Given the description of an element on the screen output the (x, y) to click on. 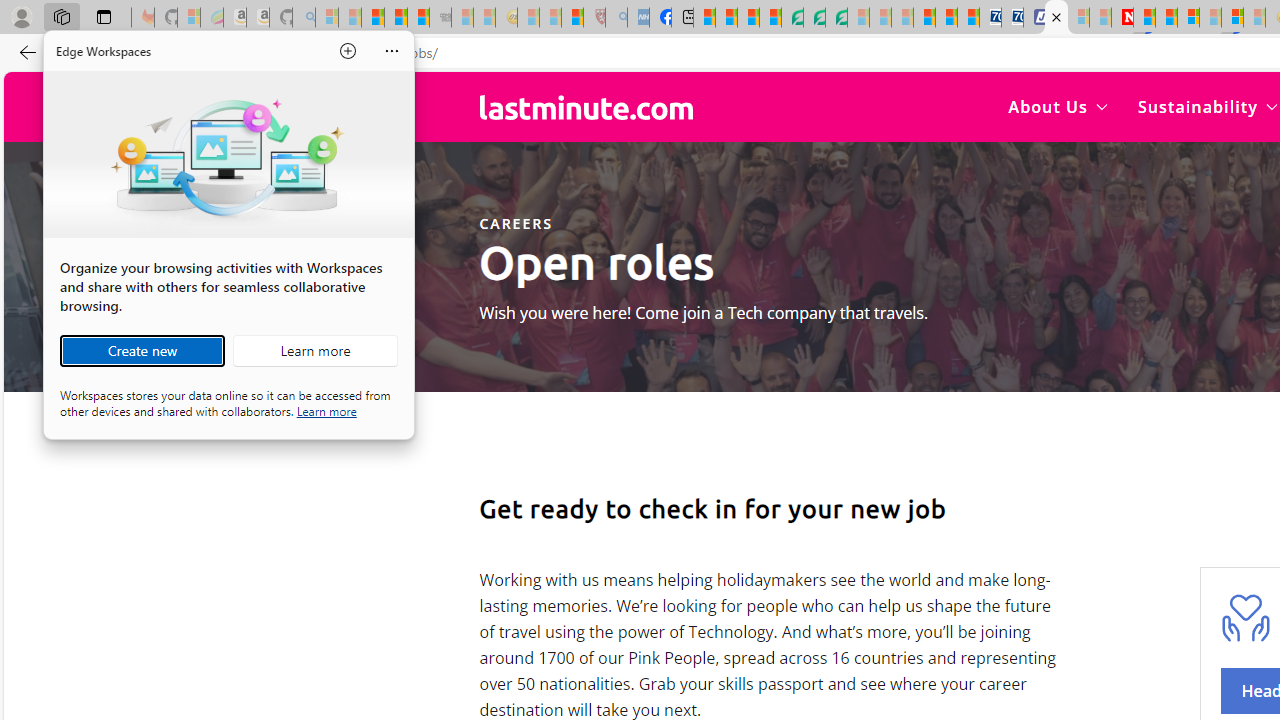
Sustainability (1206, 106)
About Us (1058, 106)
Learn more about Workspaces privacy (326, 410)
Terms of Use Agreement (814, 17)
Jobs - lastminute.com Investor Portal (1056, 17)
